Given the description of an element on the screen output the (x, y) to click on. 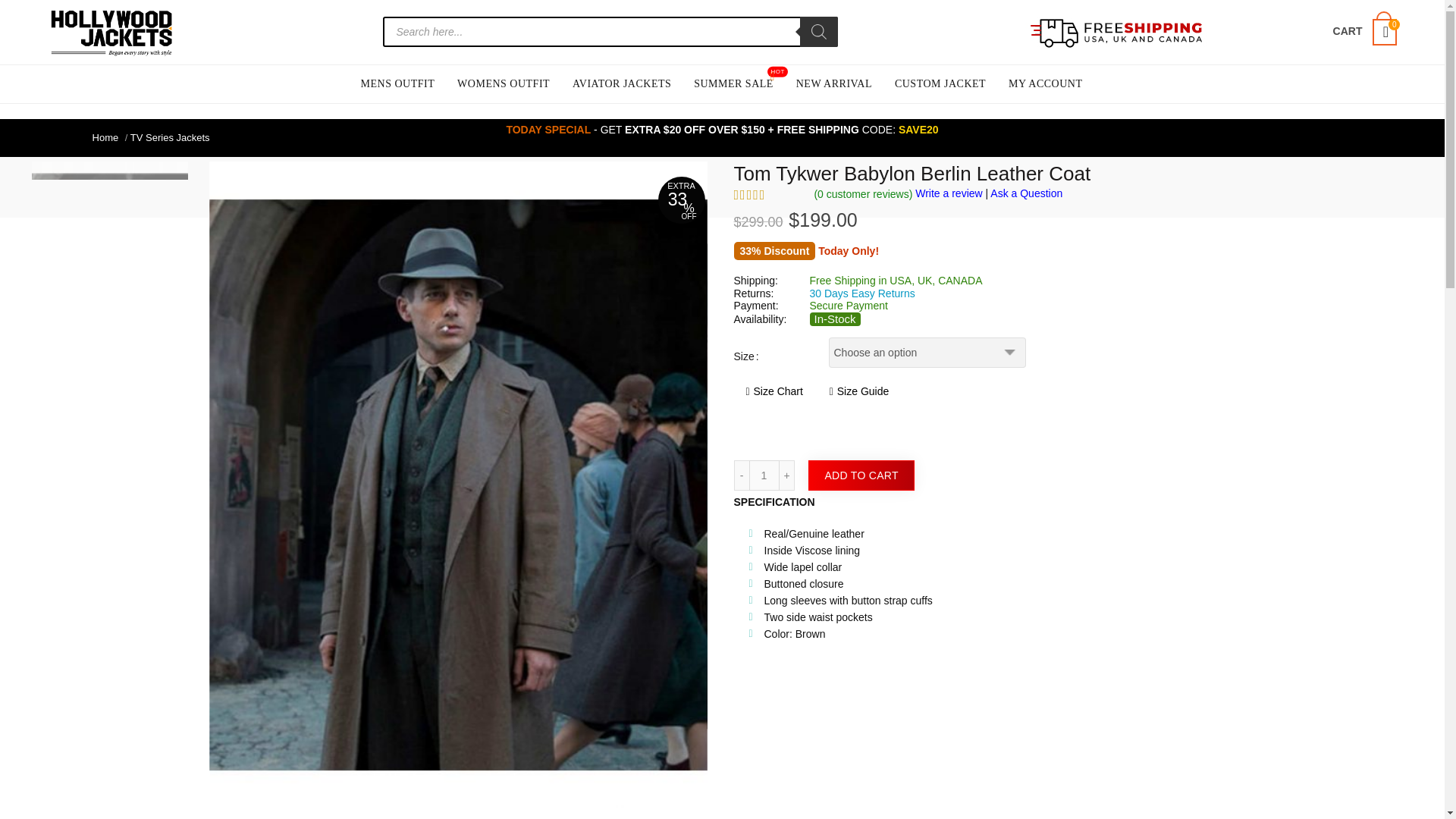
Rated 0 out of 5 (768, 194)
1 (763, 475)
Qty (763, 475)
